Given the description of an element on the screen output the (x, y) to click on. 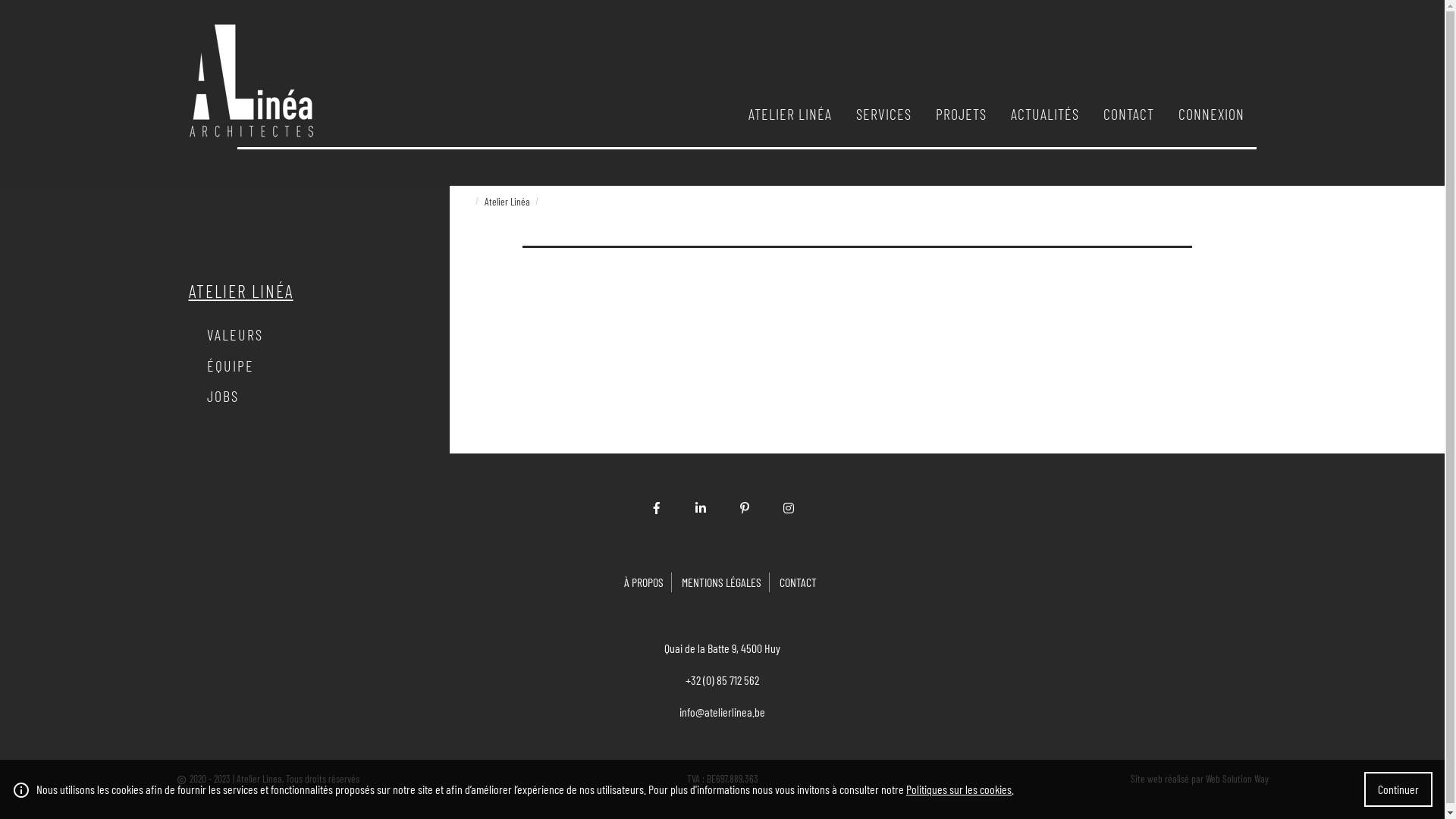
CONTACT Element type: text (797, 582)
PASSER LE MENU Element type: text (747, 100)
PROJETS Element type: text (960, 113)
CONNEXION Element type: text (1211, 113)
Suivez-nous sur LinkedIn Element type: text (700, 507)
Politiques sur les cookies Element type: text (958, 788)
VALEURS Element type: text (315, 334)
JOBS Element type: text (315, 395)
Continuer Element type: text (1398, 788)
Suivez-nous sur Pinterest Element type: text (744, 507)
SERVICES Element type: text (882, 113)
Suivez-nous sur Facebook Element type: text (656, 507)
info@atelierlinea.be Element type: text (722, 711)
Suivez-nous sur Instagram Element type: text (788, 507)
Web Solution Way Element type: text (1236, 777)
CONTACT Element type: text (1127, 113)
